Given the description of an element on the screen output the (x, y) to click on. 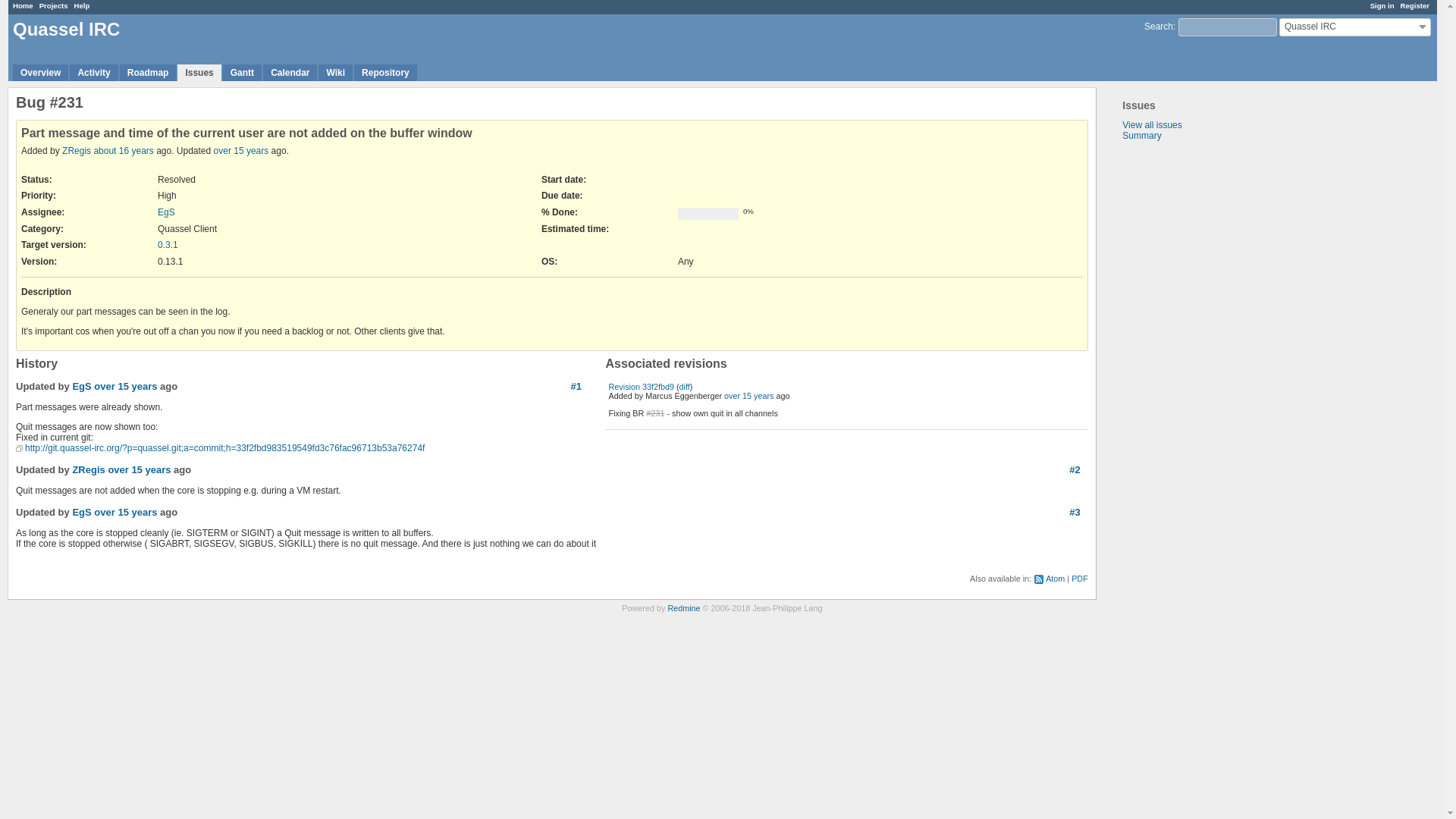
ZRegis (87, 469)
Gantt (242, 72)
View all issues (1151, 124)
Search (1158, 26)
over 15 years (748, 395)
Activity (93, 72)
Revision 33f2fbd9 (641, 386)
EgS (80, 511)
over 15 years (138, 469)
Summary (1141, 135)
Atom (1048, 578)
Projects (53, 5)
Overview (40, 72)
EgS (80, 386)
Help (82, 5)
